Given the description of an element on the screen output the (x, y) to click on. 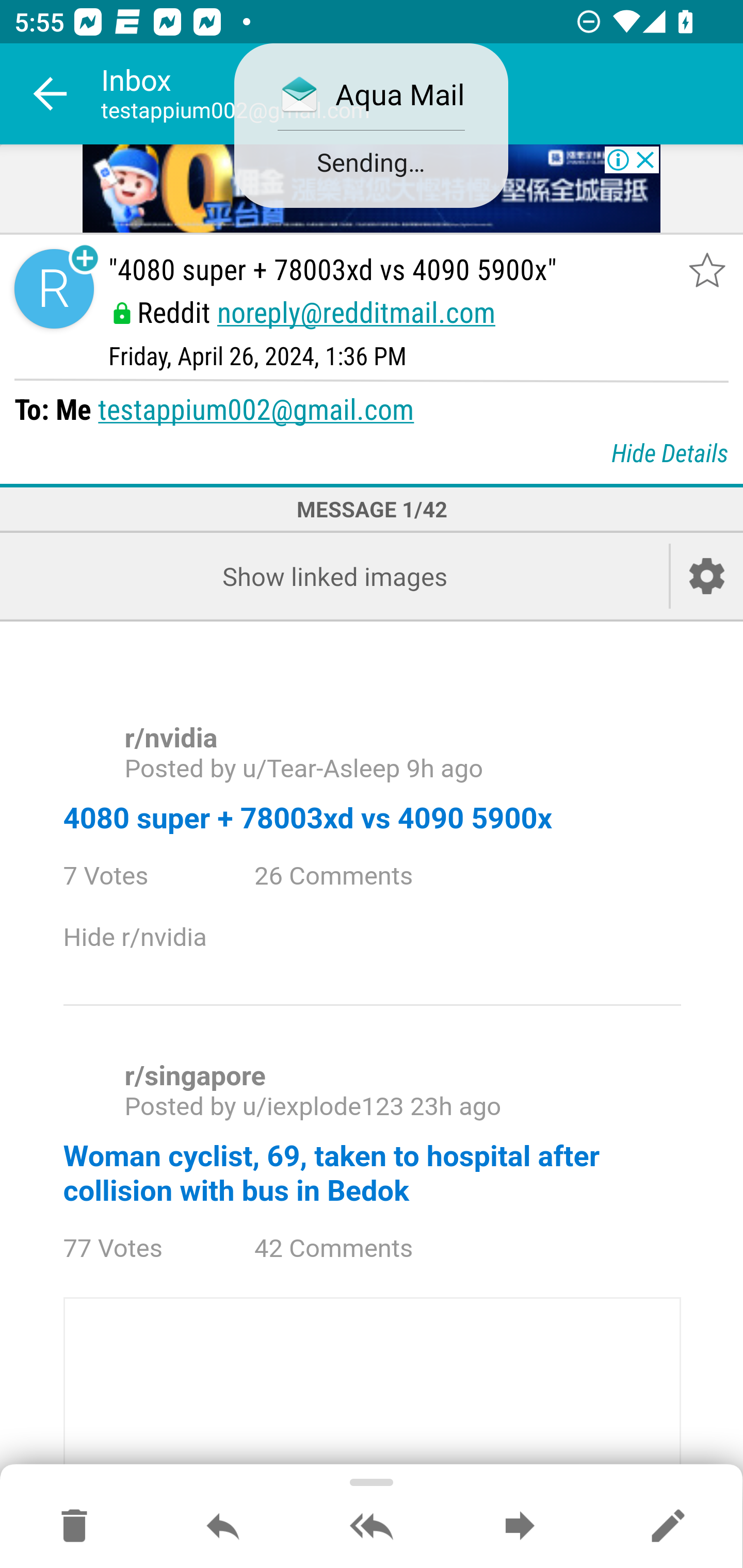
Navigate up (50, 93)
Inbox testappium002@gmail.com (422, 93)
Advertisement (371, 189)
Sender contact button (53, 289)
Show linked images (334, 576)
Account setup (706, 576)
r/nvidia (170, 739)
Posted by u/Tear-Asleep (261, 768)
9h ago (443, 768)
4080 super + 78003xd vs 4090 5900x (306, 818)
7 Votes (123, 875)
26 Comments (348, 875)
Hide r/nvidia (151, 937)
r/singapore (194, 1076)
Posted by u/iexplode123 (263, 1105)
23h ago (454, 1105)
77 Votes (130, 1248)
42 Comments (348, 1248)
Move to Deleted (74, 1527)
Reply (222, 1527)
Reply all (371, 1527)
Forward (519, 1527)
Reply as new (667, 1527)
